Given the description of an element on the screen output the (x, y) to click on. 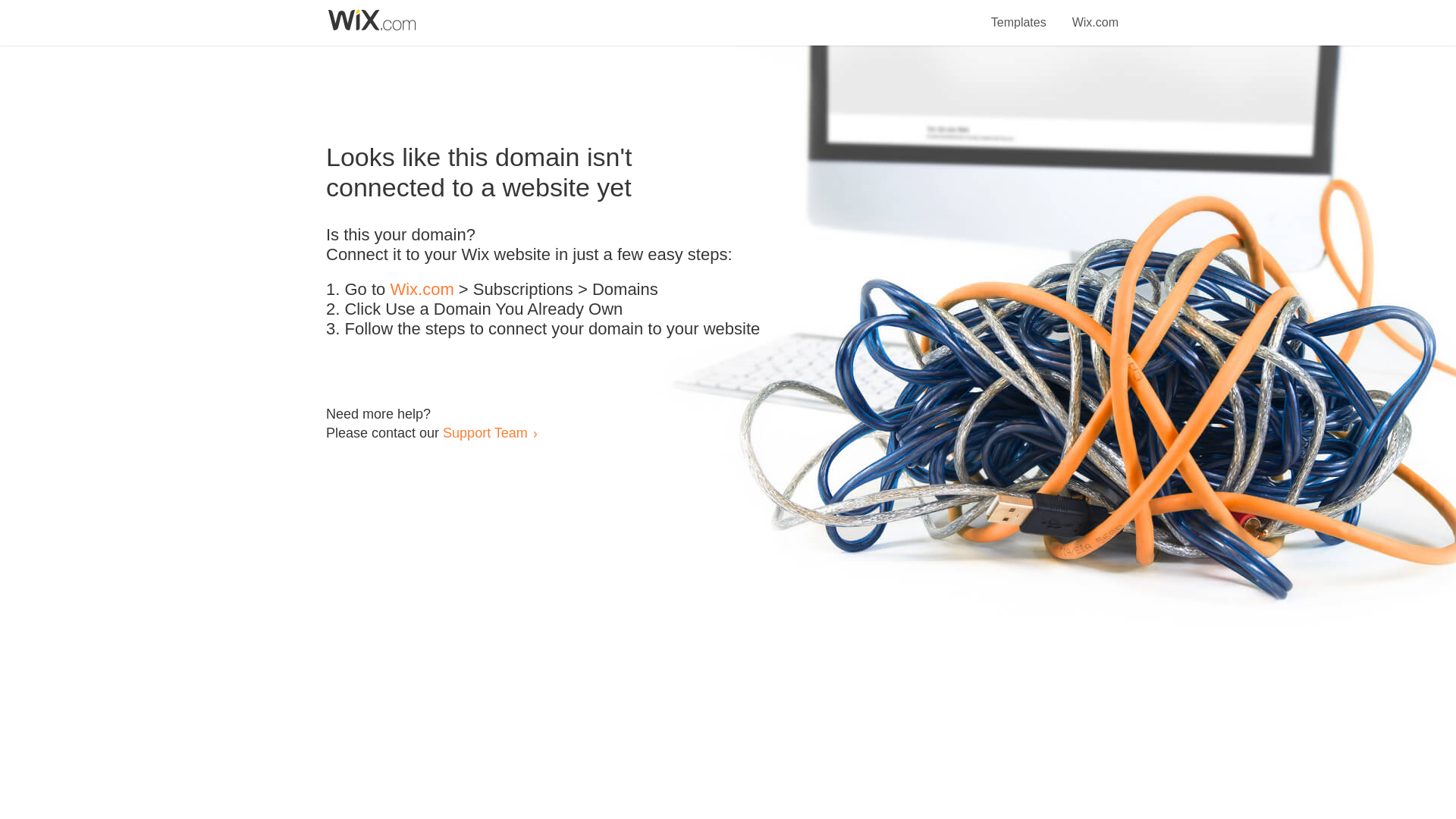
Wix.com (1095, 14)
Support Team (484, 432)
Wix.com (421, 289)
Templates (1018, 14)
